Given the description of an element on the screen output the (x, y) to click on. 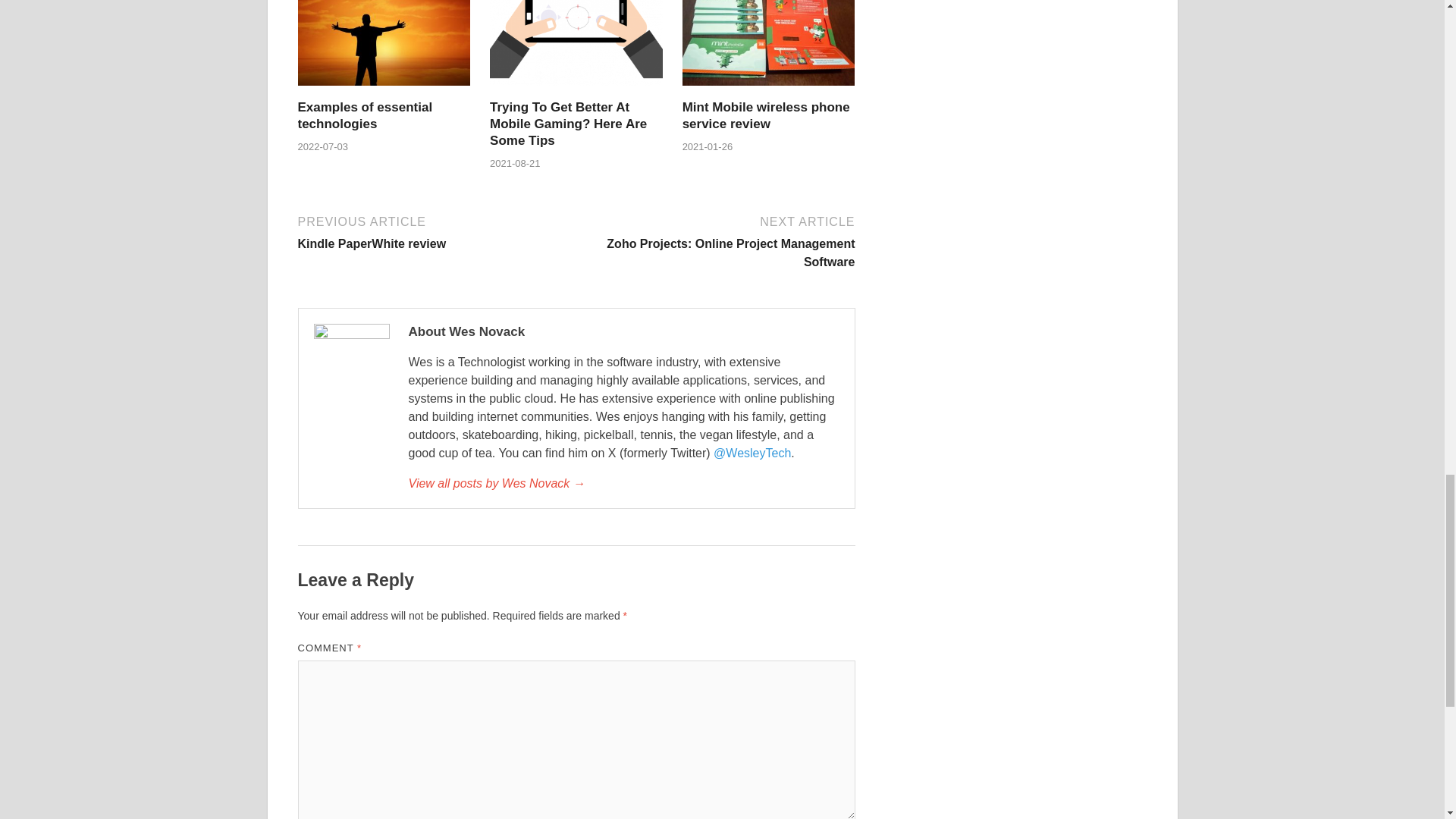
Examples of essential technologies (364, 115)
Trying To Get Better At Mobile Gaming? Here Are Some Tips (567, 123)
Trying To Get Better At Mobile Gaming? Here Are Some Tips (575, 89)
Examples of essential technologies (434, 231)
Mint Mobile wireless phone service review (364, 115)
Mint Mobile wireless phone service review (766, 115)
Examples of essential technologies (766, 115)
Trying To Get Better At Mobile Gaming? Here Are Some Tips (383, 89)
Wes Novack (567, 123)
Mint Mobile wireless phone service review (622, 484)
